Given the description of an element on the screen output the (x, y) to click on. 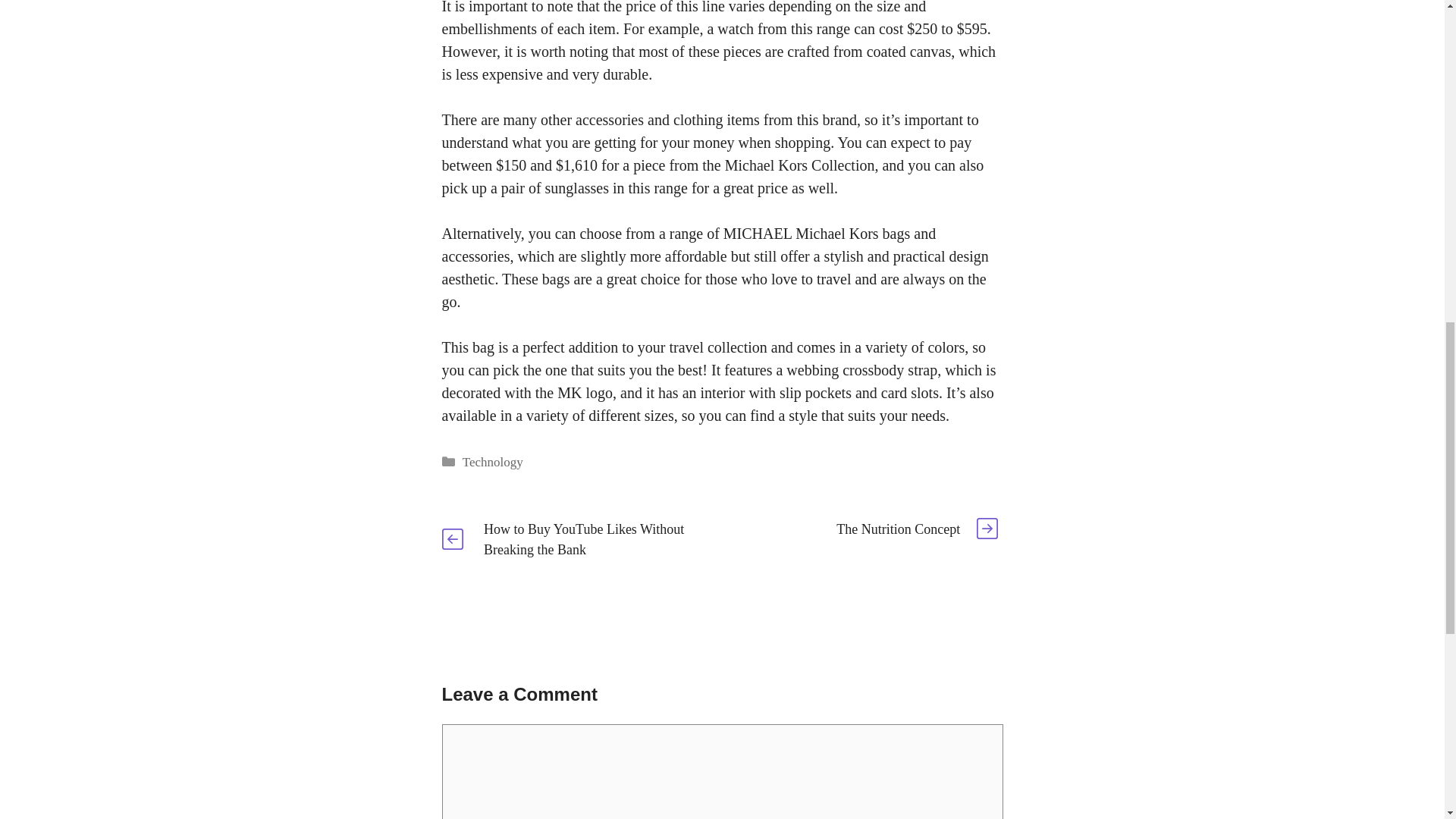
How to Buy YouTube Likes Without Breaking the Bank (583, 539)
The Nutrition Concept (897, 529)
Technology (492, 462)
